Given the description of an element on the screen output the (x, y) to click on. 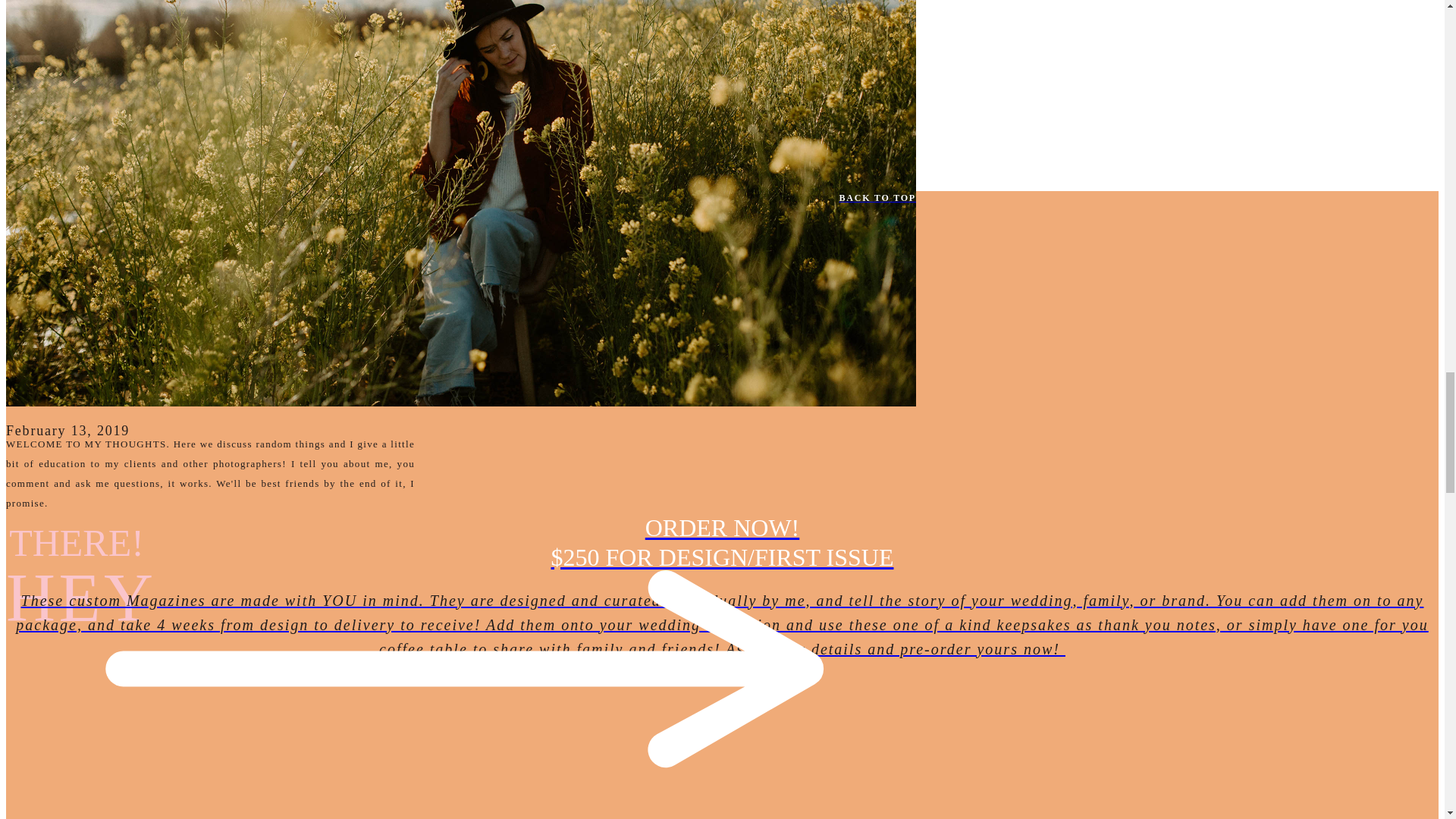
BACK TO TOP (460, 197)
